Given the description of an element on the screen output the (x, y) to click on. 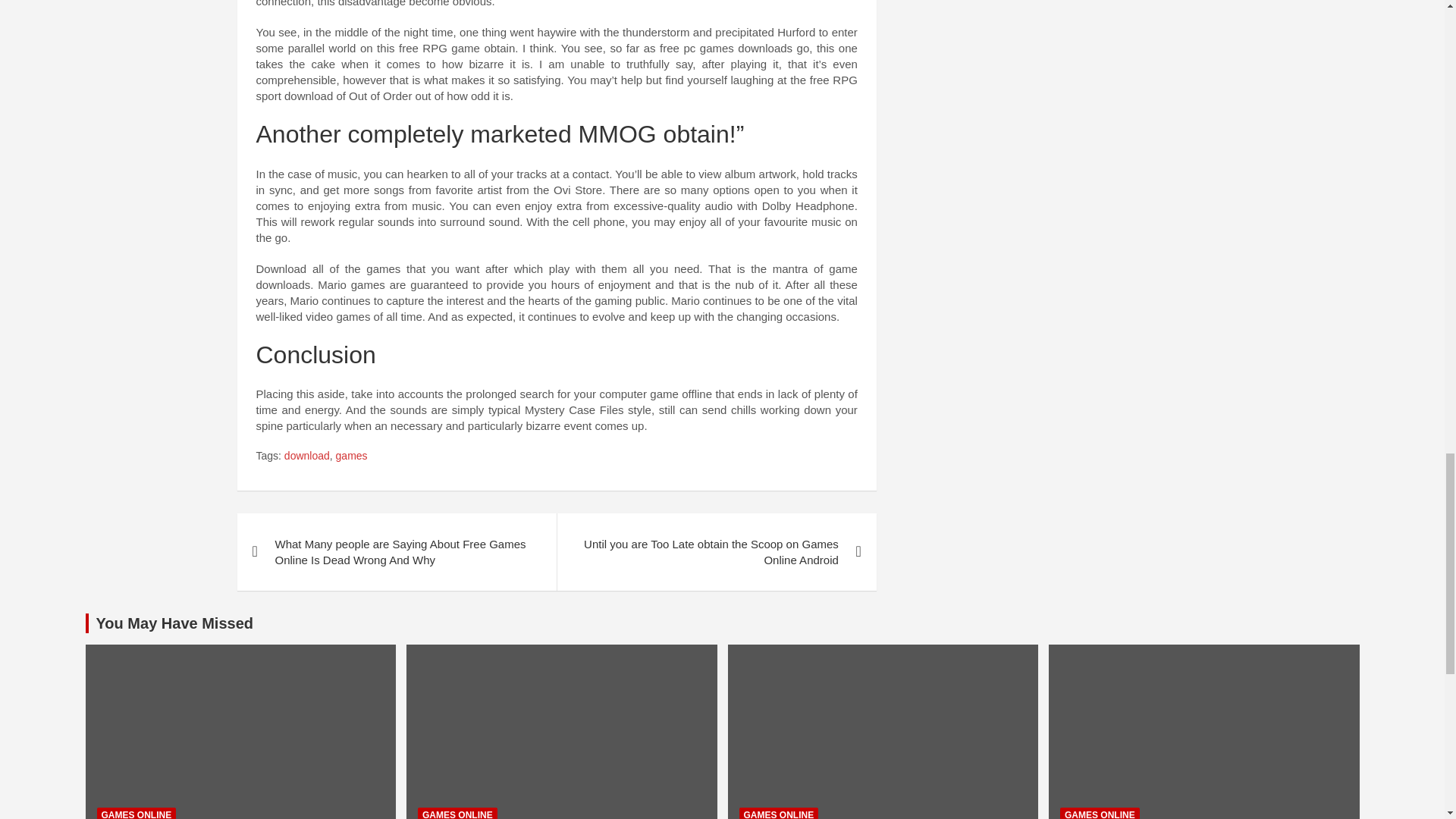
games (352, 456)
download (306, 456)
